Given the description of an element on the screen output the (x, y) to click on. 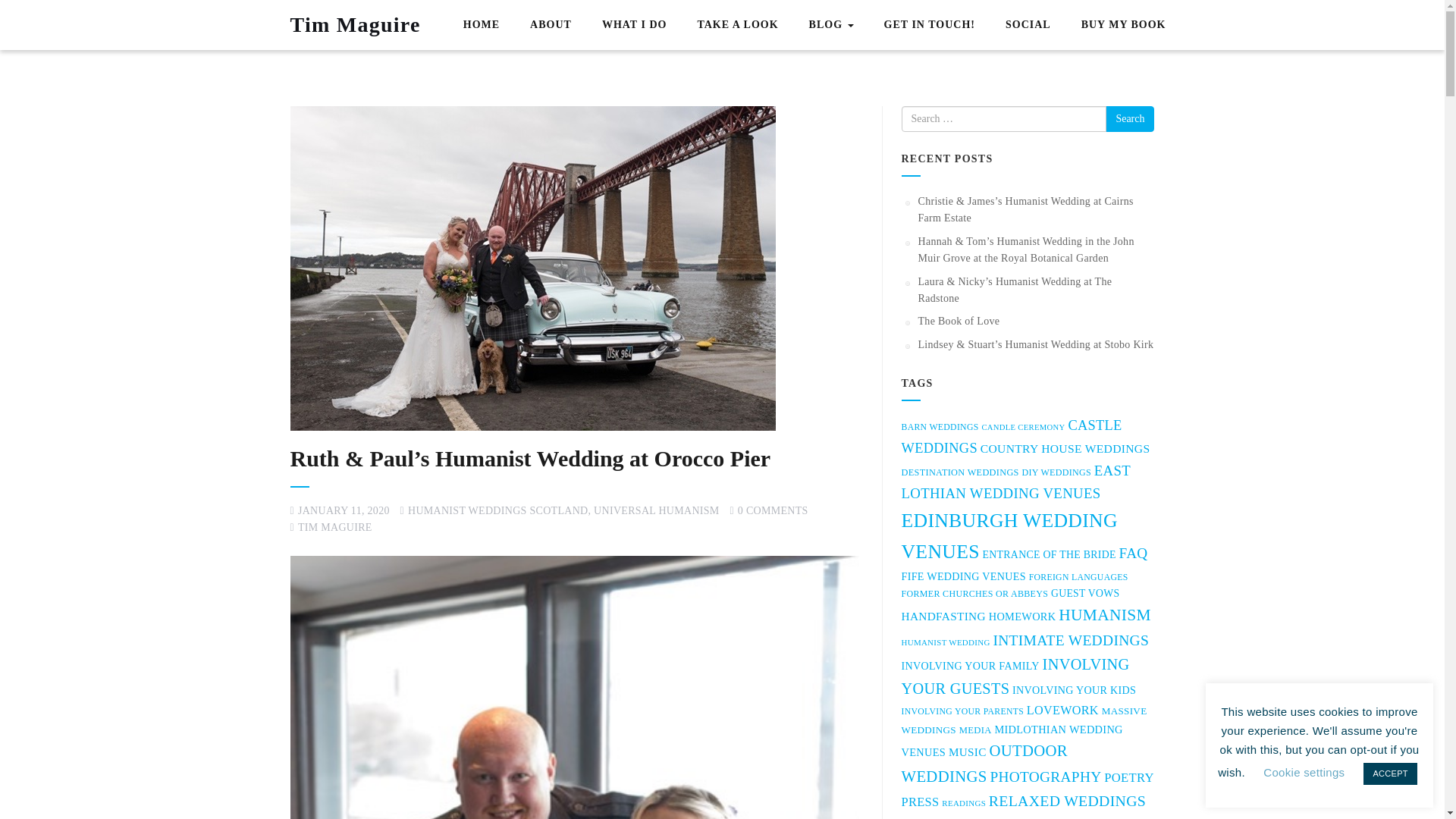
BARN WEDDINGS (939, 427)
BLOG (831, 24)
UNIVERSAL HUMANISM (656, 510)
The Book of Love (957, 320)
HOME (481, 25)
Tim Maguire (355, 24)
Blog (831, 24)
ABOUT (550, 25)
WHAT I DO (634, 25)
CASTLE WEDDINGS (1011, 436)
